Given the description of an element on the screen output the (x, y) to click on. 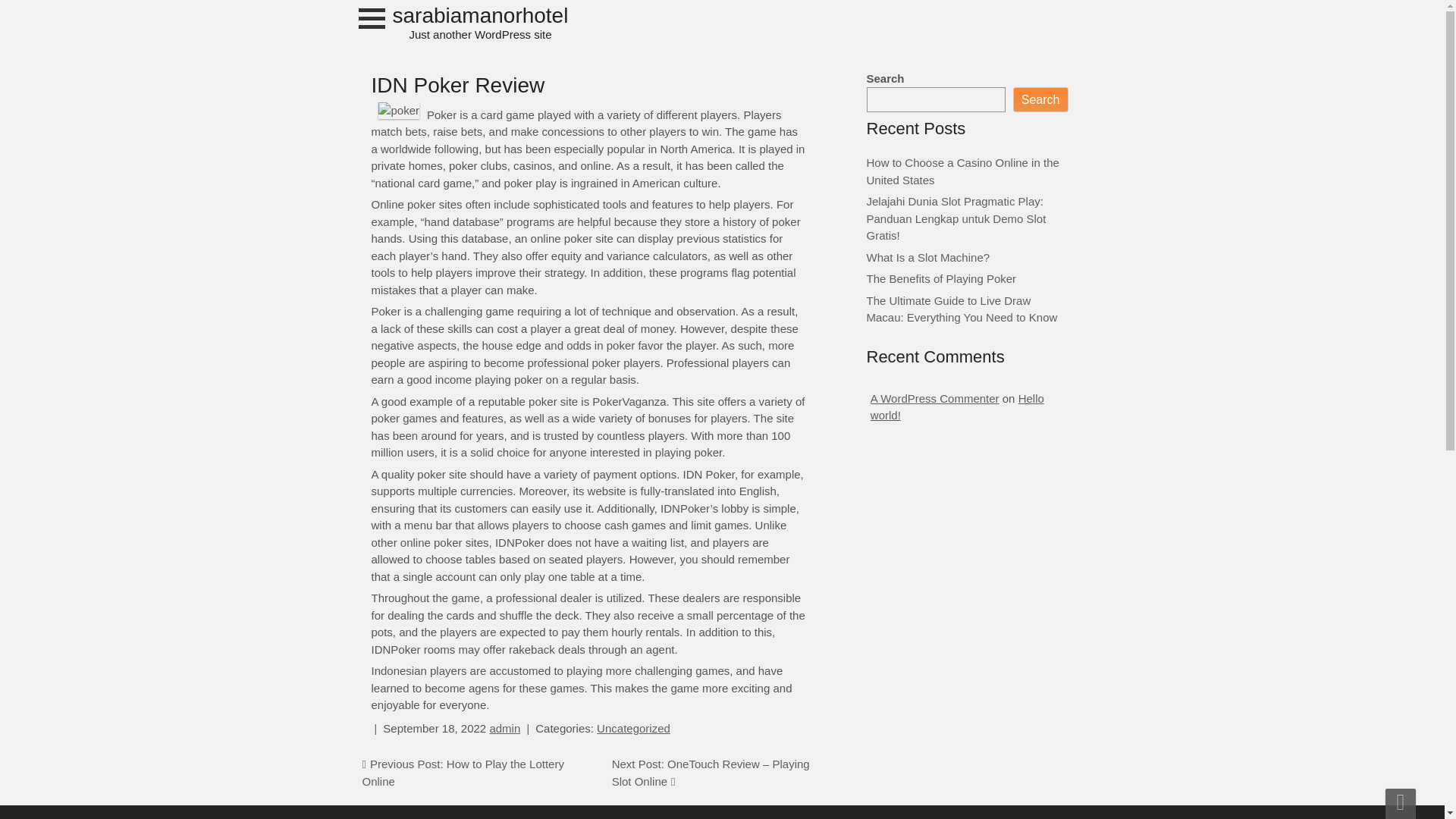
Posts by admin (504, 727)
A WordPress Commenter (934, 397)
admin (504, 727)
How to Choose a Casino Online in the United States (962, 171)
The Benefits of Playing Poker (941, 278)
Uncategorized (632, 727)
What Is a Slot Machine? (928, 256)
Search (1040, 99)
Previous Post: How to Play the Lottery Online (463, 772)
